Given the description of an element on the screen output the (x, y) to click on. 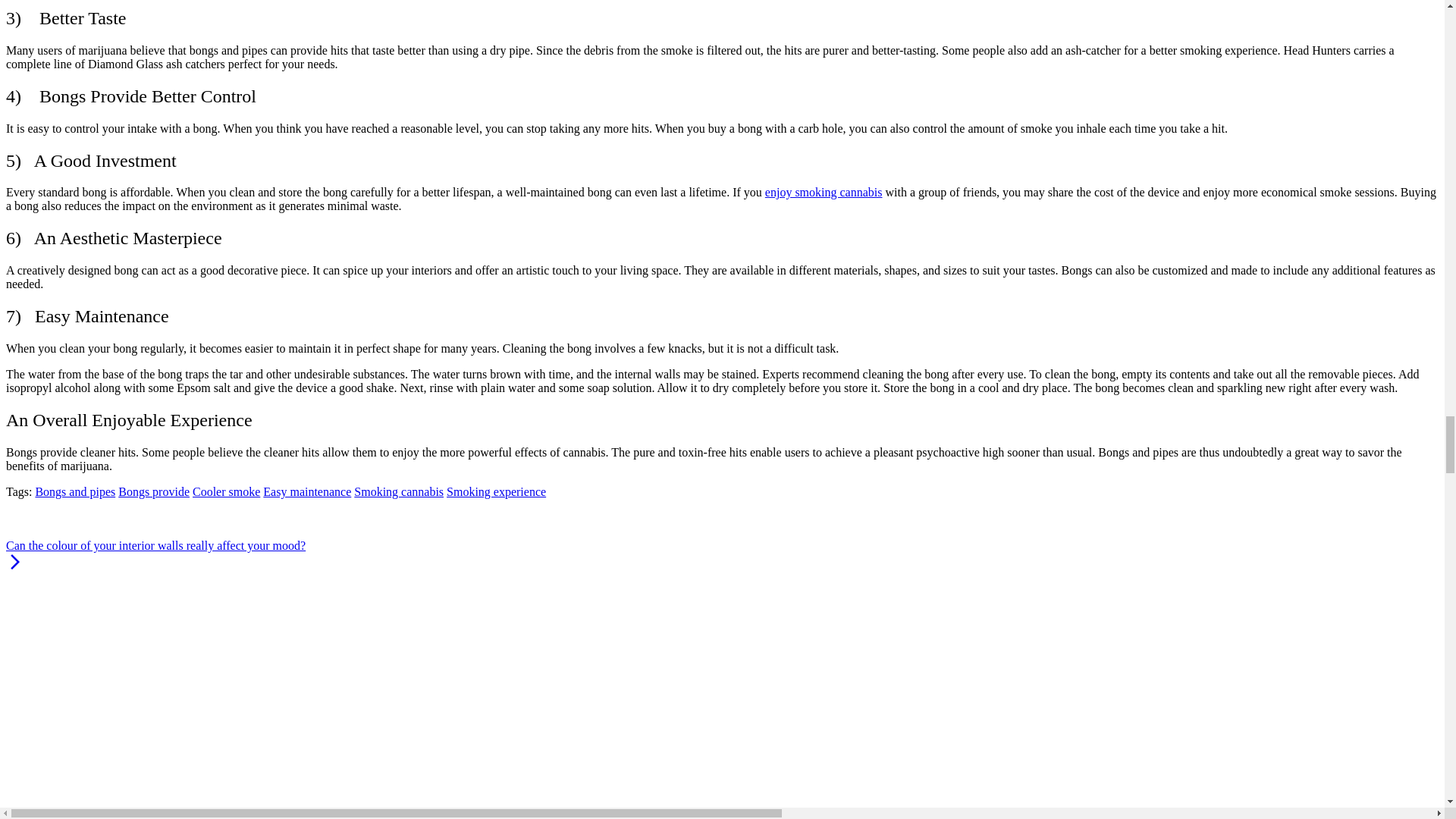
Smoking cannabis (398, 491)
Smoking experience (496, 491)
enjoy smoking cannabis (823, 192)
Bongs provide (153, 491)
Bongs and pipes (74, 491)
Cooler smoke (226, 491)
Easy maintenance (306, 491)
